Given the description of an element on the screen output the (x, y) to click on. 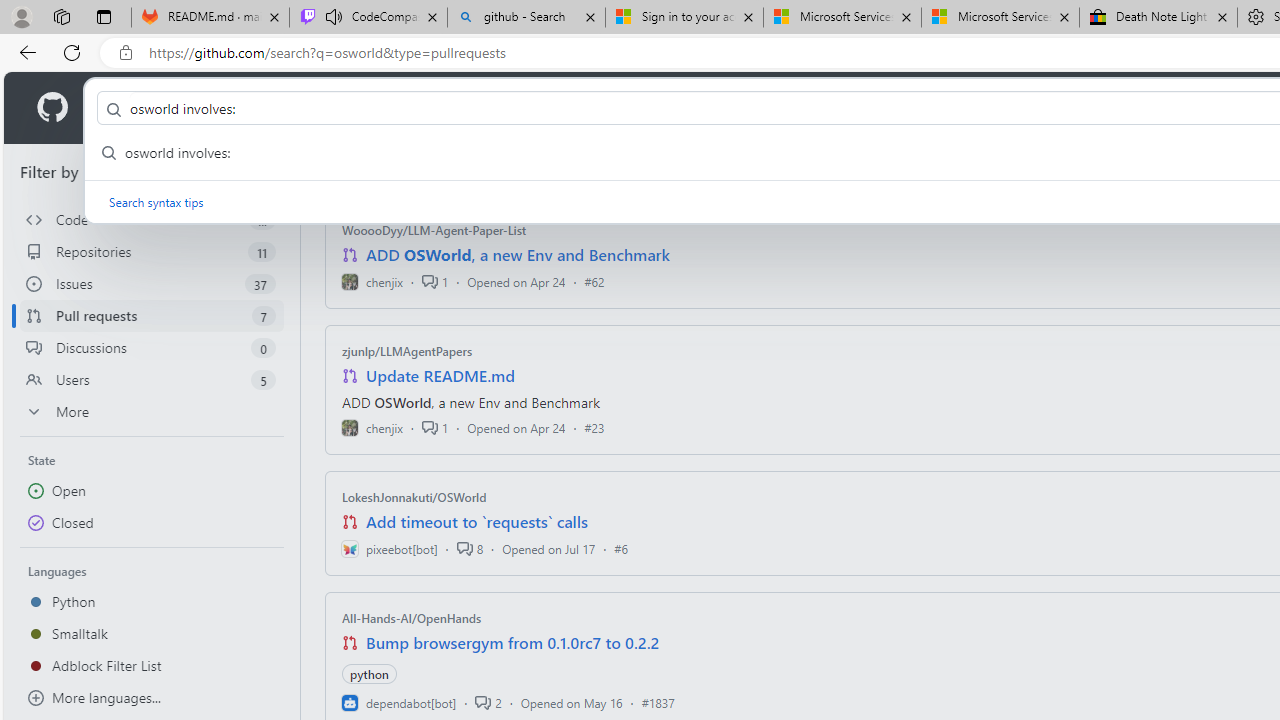
Sign in to your account (683, 17)
Resources (330, 107)
#1837 (657, 702)
github - Search (526, 17)
LokeshJonnakuti/OSWorld (413, 497)
More (152, 411)
#23 (594, 427)
